Given the description of an element on the screen output the (x, y) to click on. 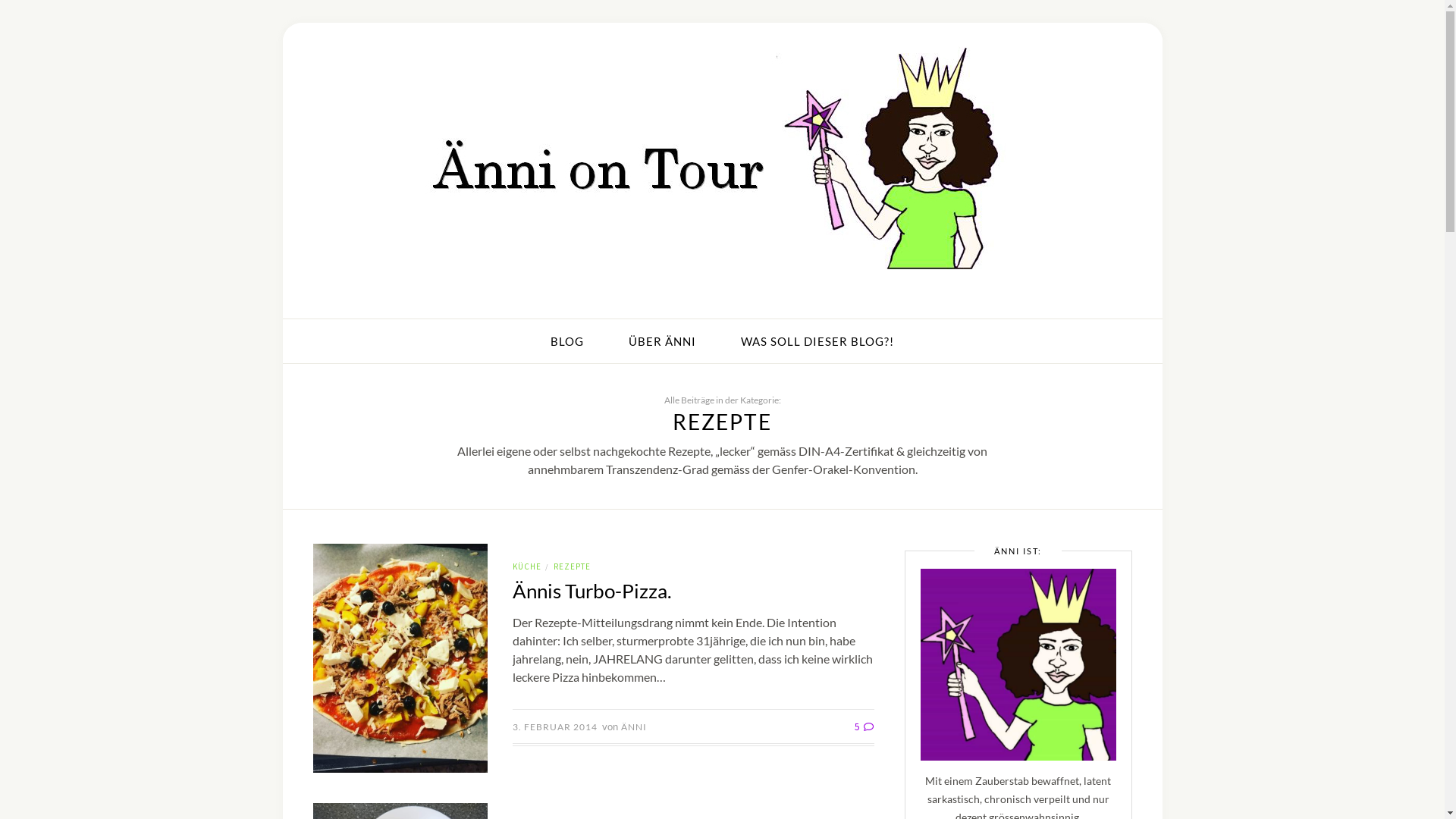
WAS SOLL DIESER BLOG?! Element type: text (817, 341)
5 Element type: text (863, 726)
3. FEBRUAR 2014 Element type: text (554, 726)
pizza 350x460 Element type: hover (399, 657)
BLOG Element type: text (566, 341)
REZEPTE Element type: text (571, 566)
